Given the description of an element on the screen output the (x, y) to click on. 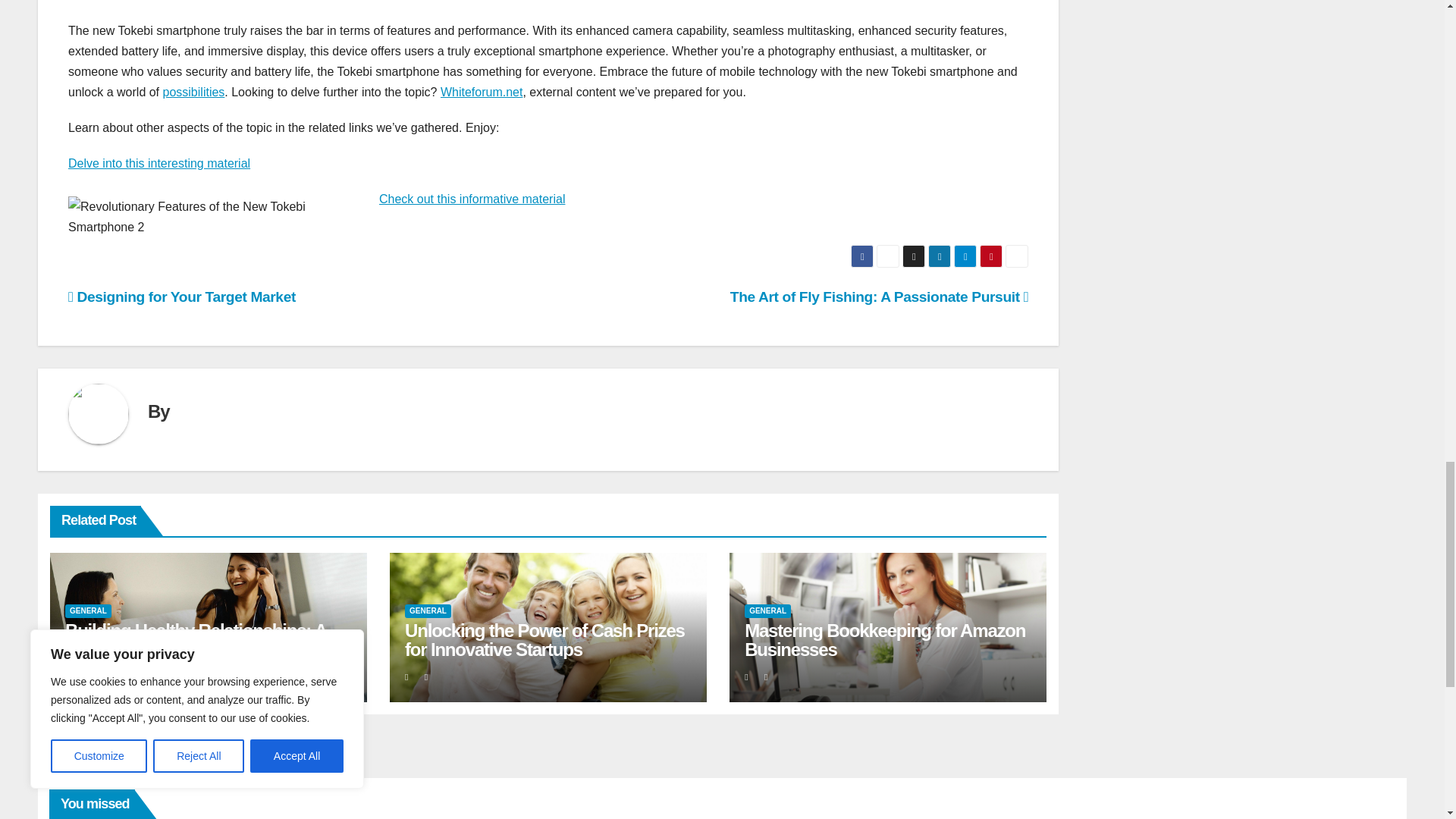
possibilities (194, 91)
Delve into this interesting material (159, 163)
Check out this informative material (471, 198)
Whiteforum.net (481, 91)
Permalink to: Mastering Bookkeeping for Amazon Businesses (884, 639)
